Given the description of an element on the screen output the (x, y) to click on. 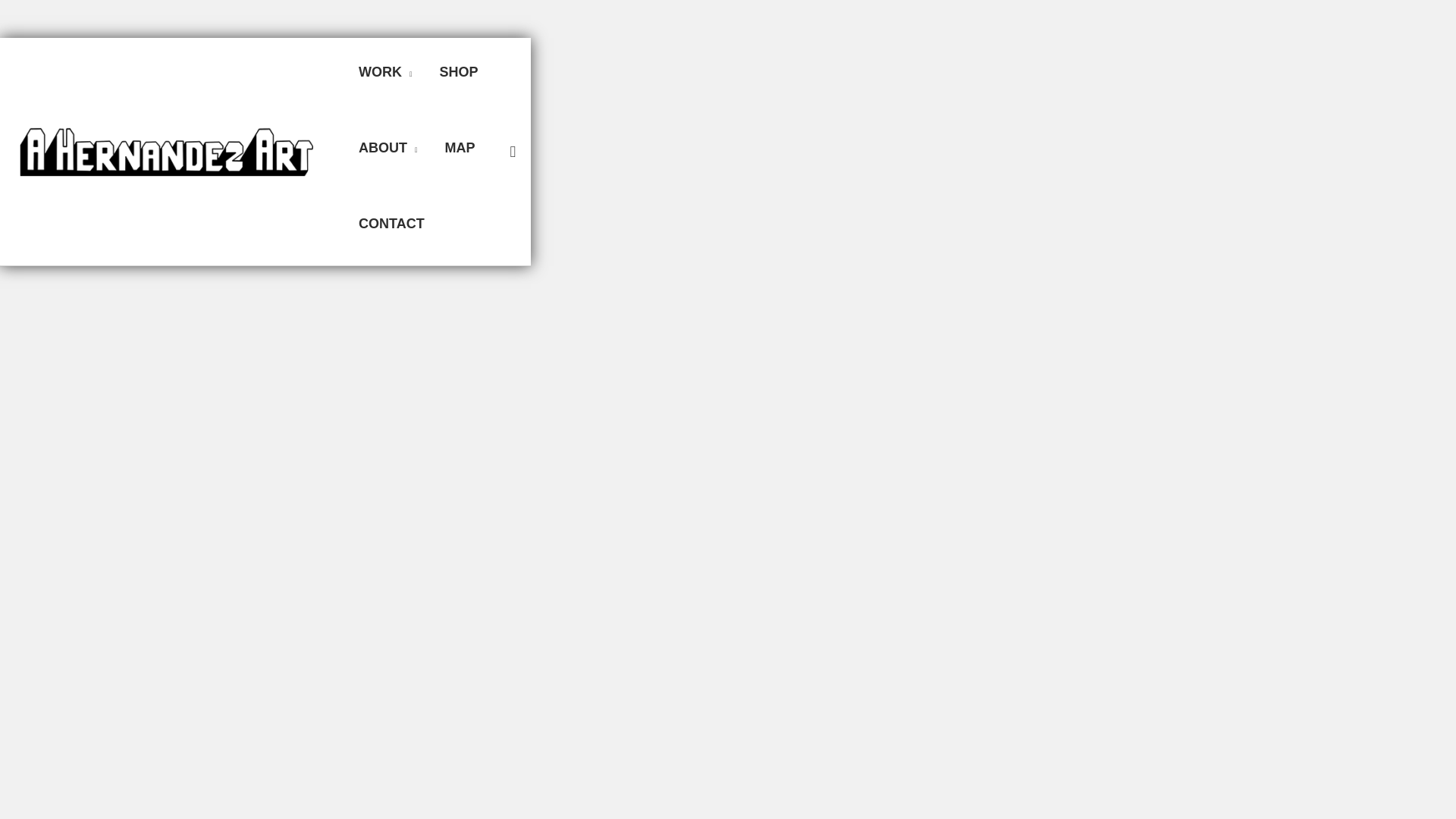
SHOP (459, 71)
ABOUT (387, 147)
WORK (385, 71)
